Given the description of an element on the screen output the (x, y) to click on. 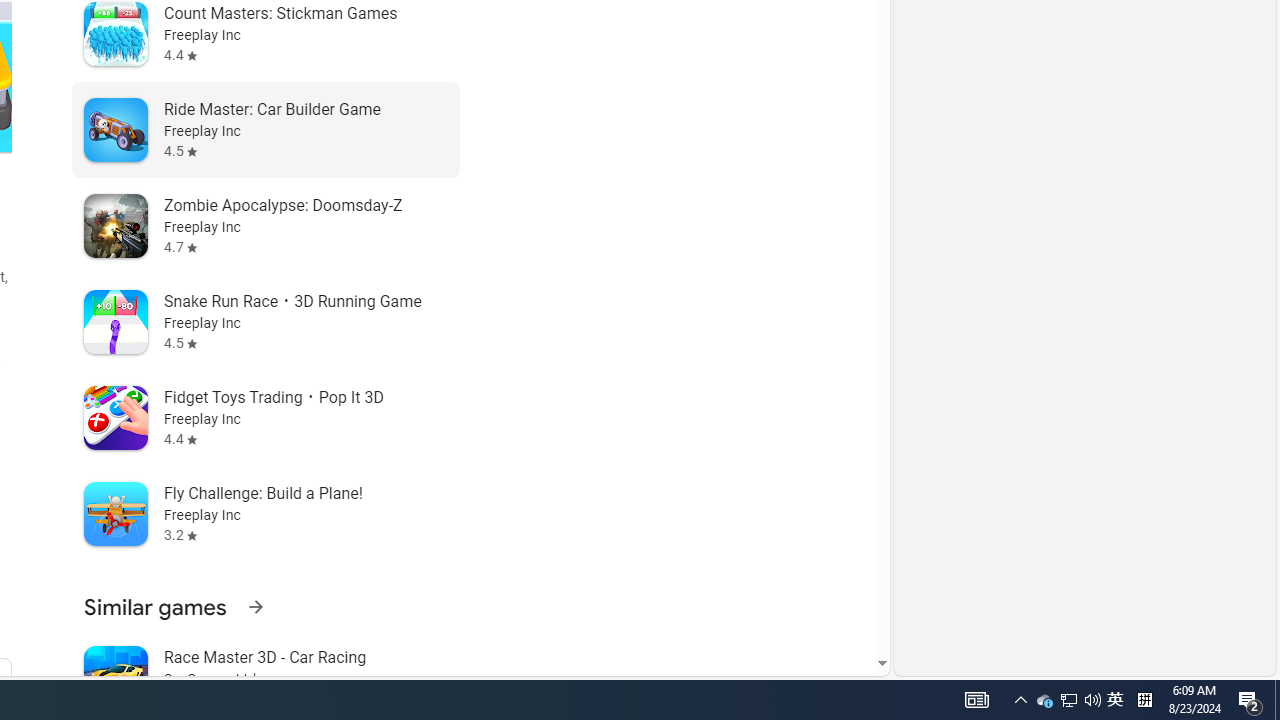
See more information on Similar games (255, 606)
